Given the description of an element on the screen output the (x, y) to click on. 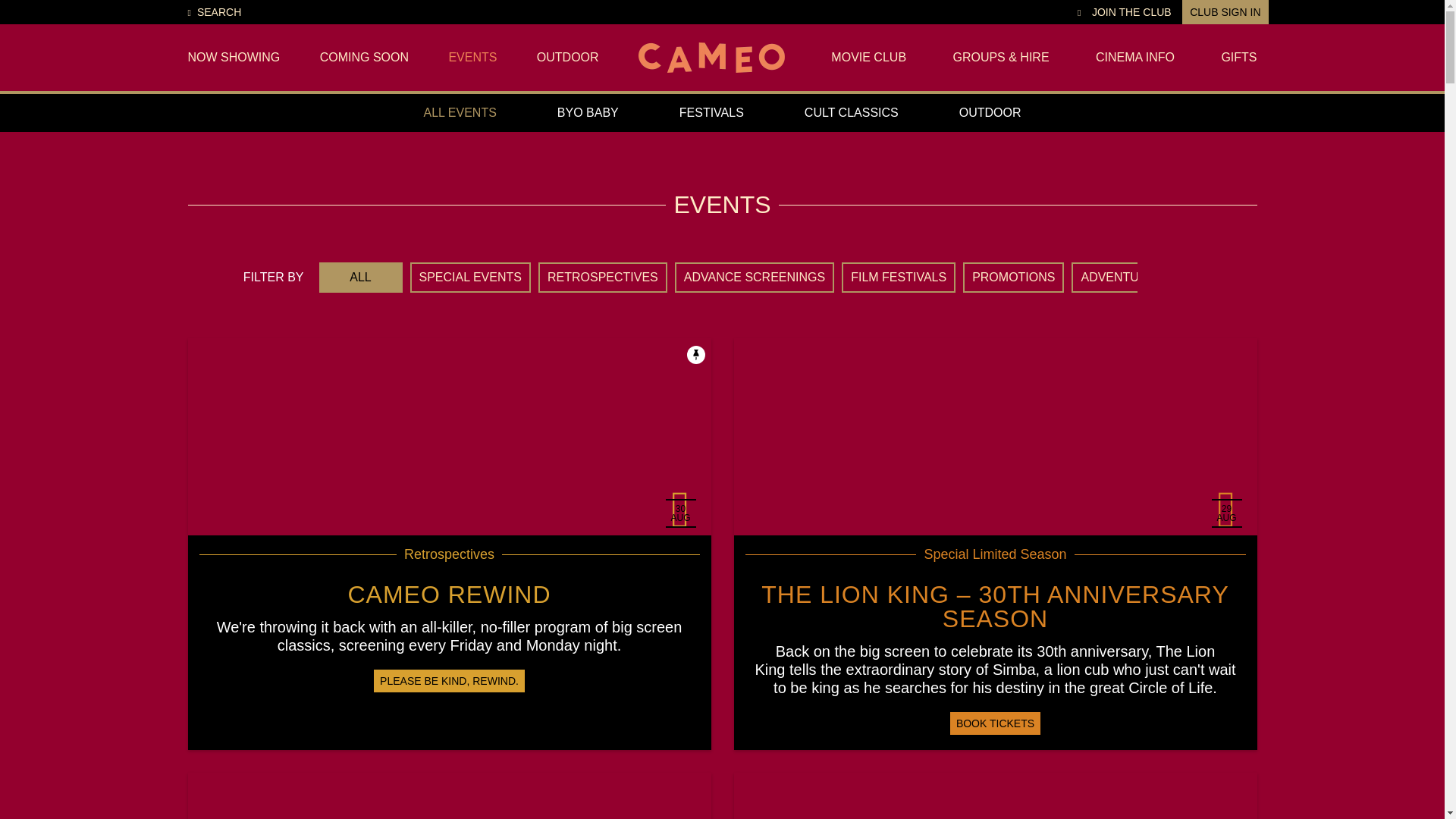
EVENTS (472, 57)
JOIN THE CLUB (1132, 12)
OUTDOOR (567, 57)
SEARCH (214, 12)
NOW SHOWING (234, 57)
COMING SOON (364, 57)
MOVIE CLUB (868, 57)
CLUB SIGN IN (1225, 12)
GIFTS (1238, 57)
CINEMA INFO (1135, 57)
